Given the description of an element on the screen output the (x, y) to click on. 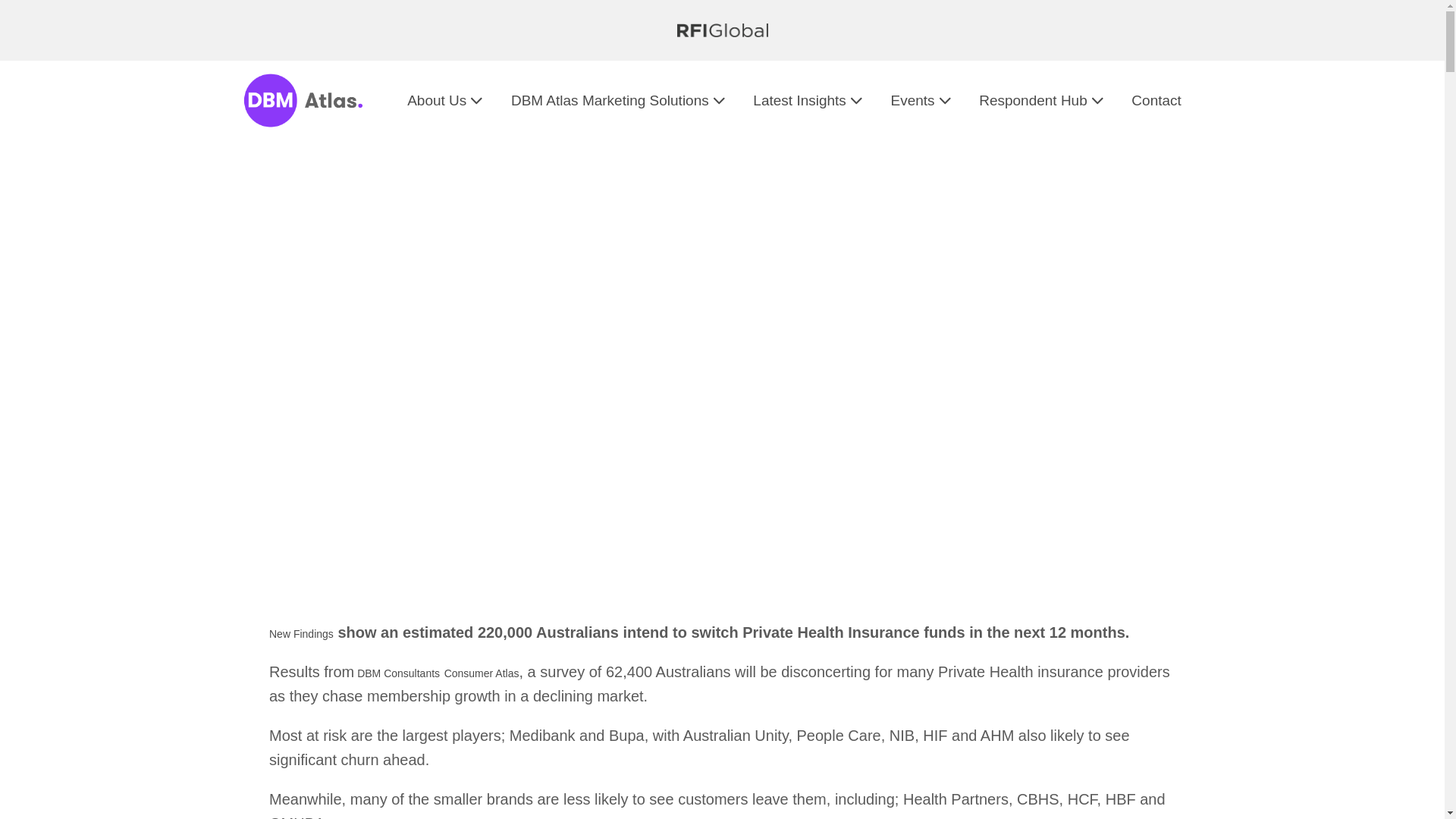
About Us Element type: text (446, 100)
Events Element type: text (922, 100)
Consumer Atlas Element type: text (481, 673)
Latest Insights Element type: text (809, 100)
Contact Element type: text (1155, 100)
New Findings Element type: text (301, 633)
DBM Consultants Element type: text (396, 673)
DBM Atlas Marketing Solutions Element type: text (619, 100)
Respondent Hub Element type: text (1043, 100)
